Given the description of an element on the screen output the (x, y) to click on. 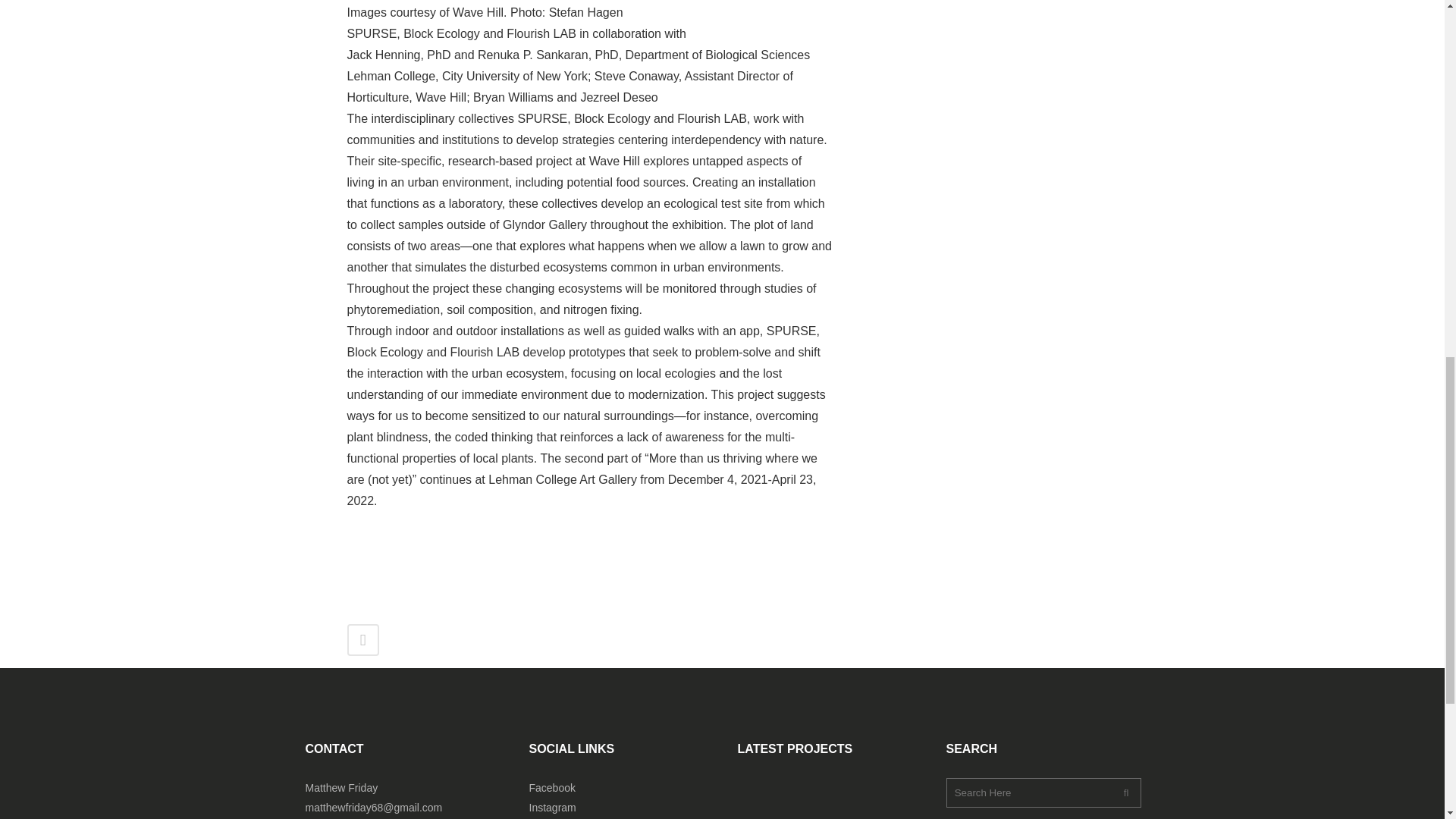
Facebook (552, 787)
Instagram (552, 807)
